Given the description of an element on the screen output the (x, y) to click on. 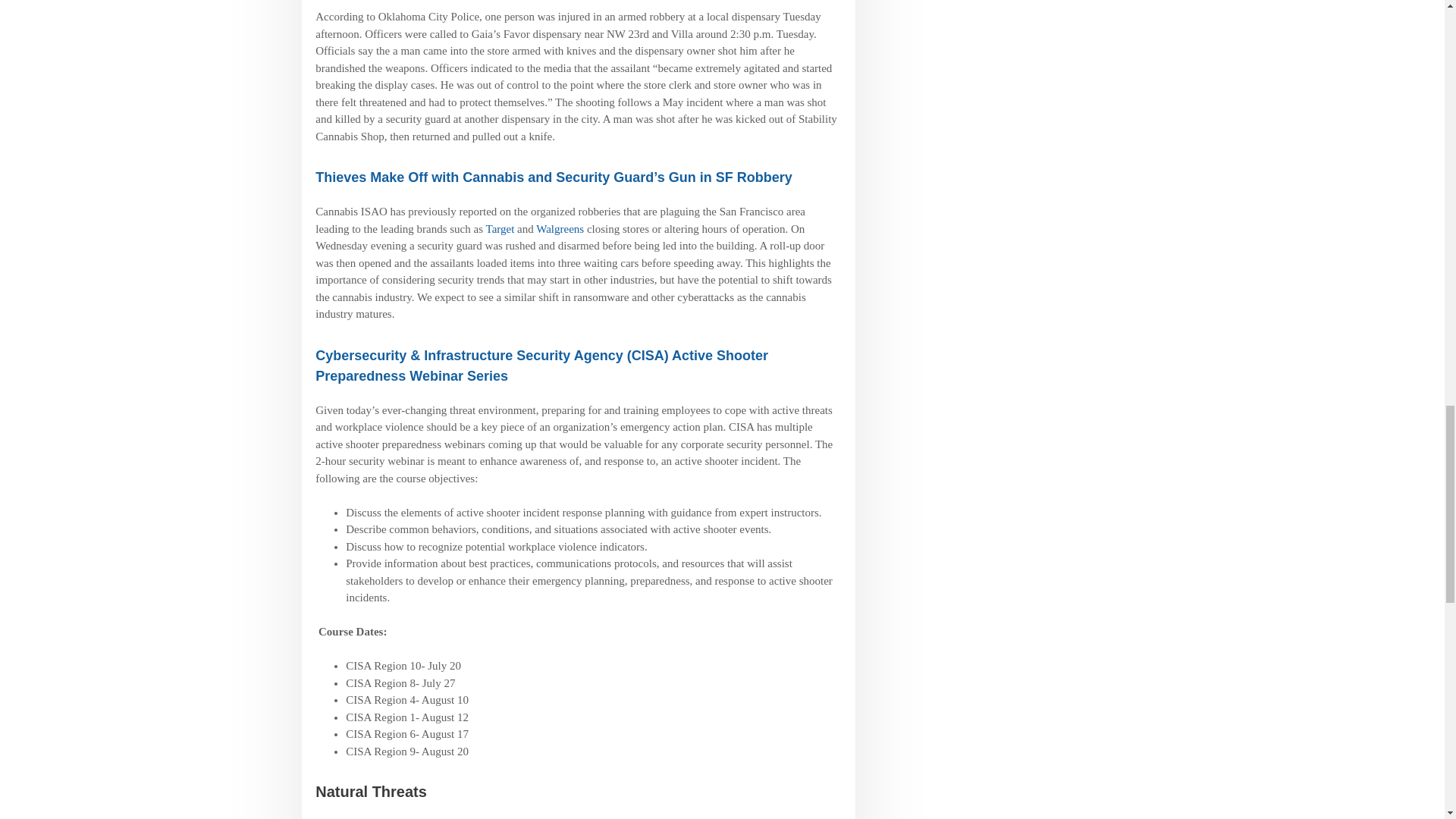
Target (500, 228)
Walgreens (559, 228)
